Given the description of an element on the screen output the (x, y) to click on. 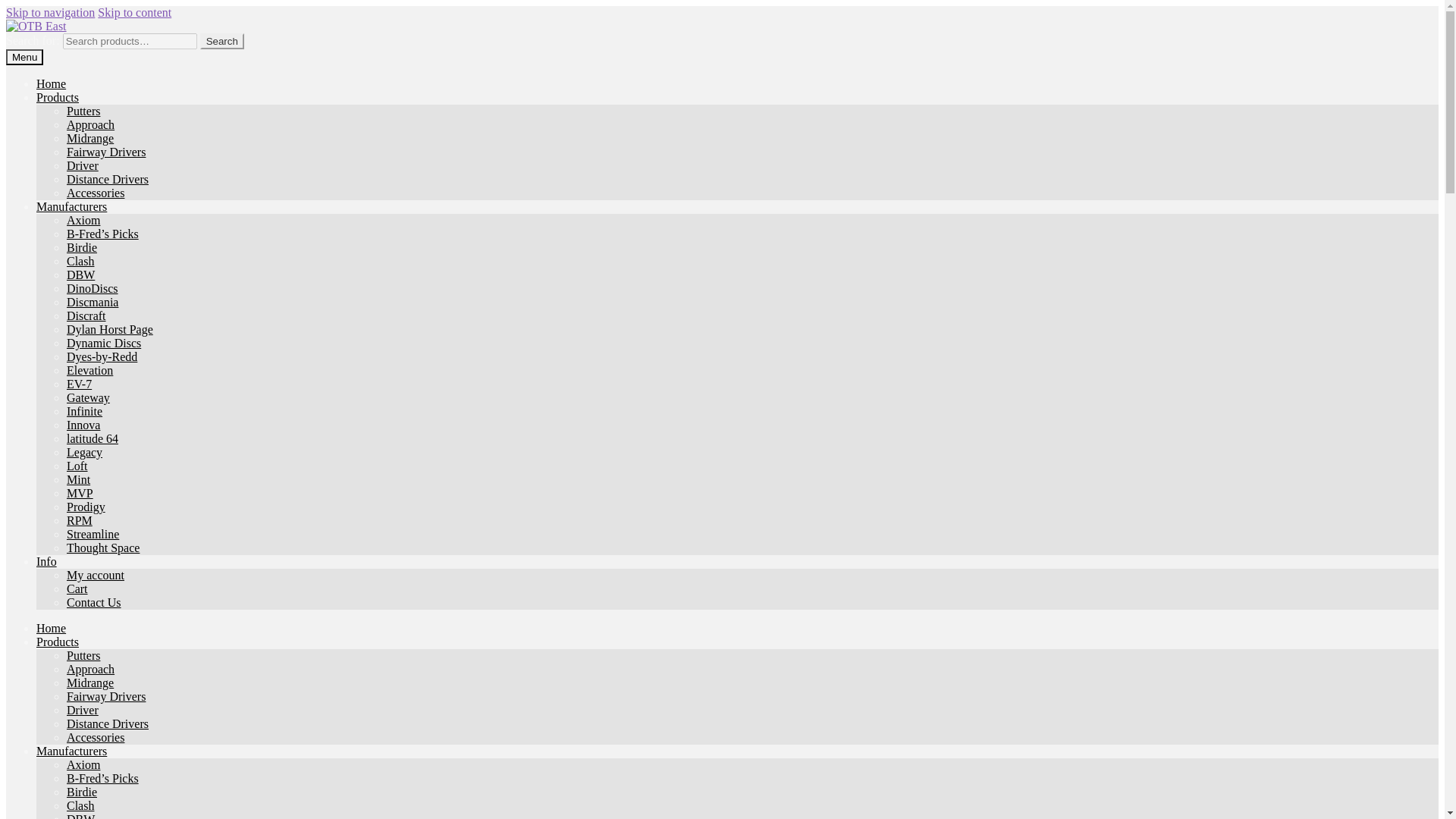
Innova (83, 424)
Dylan Horst Page (109, 328)
Thought Space (102, 547)
Discraft (86, 315)
Clash (80, 260)
Prodigy (85, 506)
Dyes-by-Redd (101, 356)
Search (222, 41)
Driver (82, 164)
Fairway Drivers (105, 151)
Birdie (81, 246)
Products (57, 97)
DBW (80, 274)
Legacy (83, 451)
Dynamic Discs (103, 342)
